Given the description of an element on the screen output the (x, y) to click on. 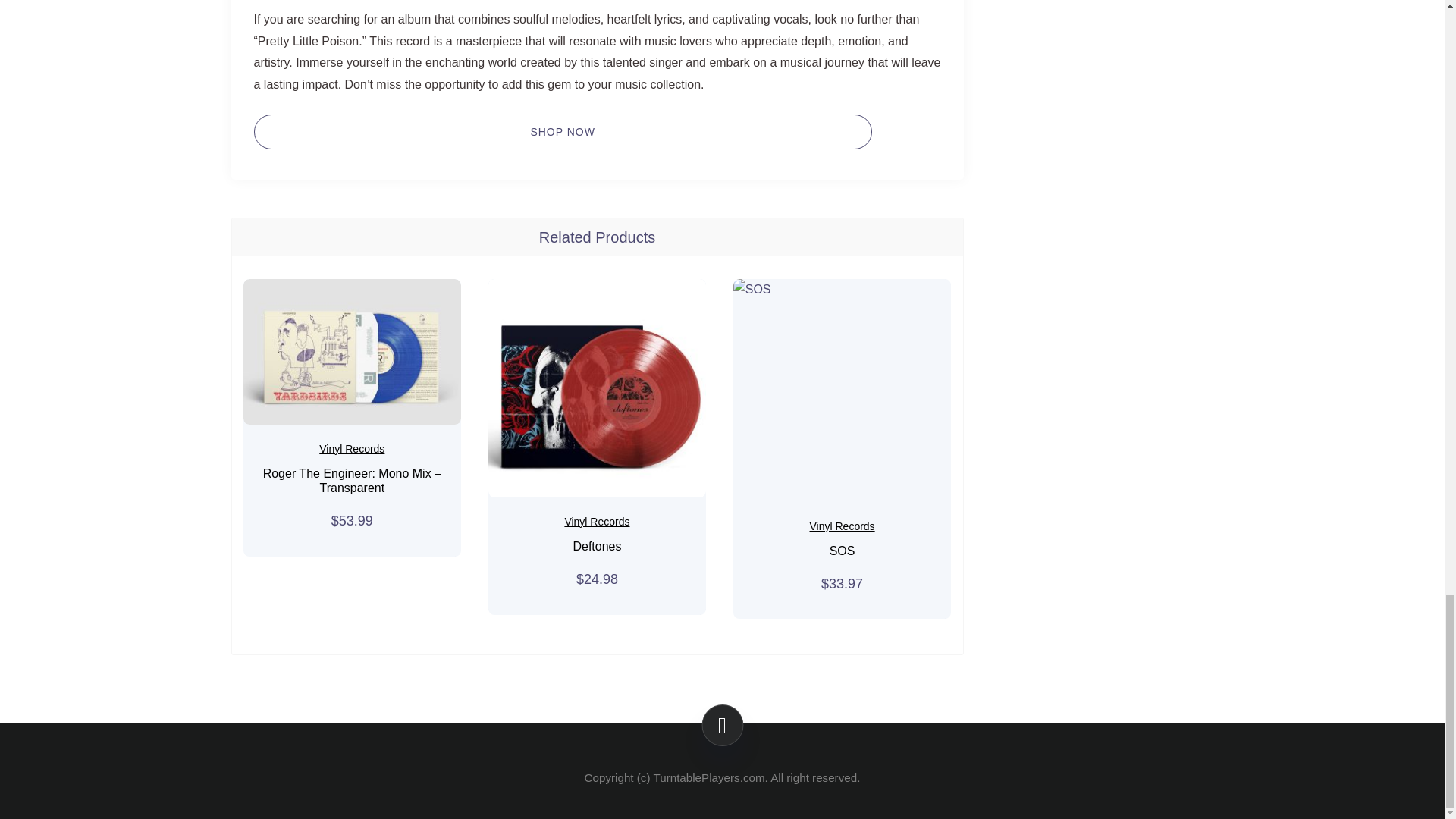
SHOP NOW (561, 131)
Vinyl Records (596, 521)
Vinyl Records (351, 449)
